Given the description of an element on the screen output the (x, y) to click on. 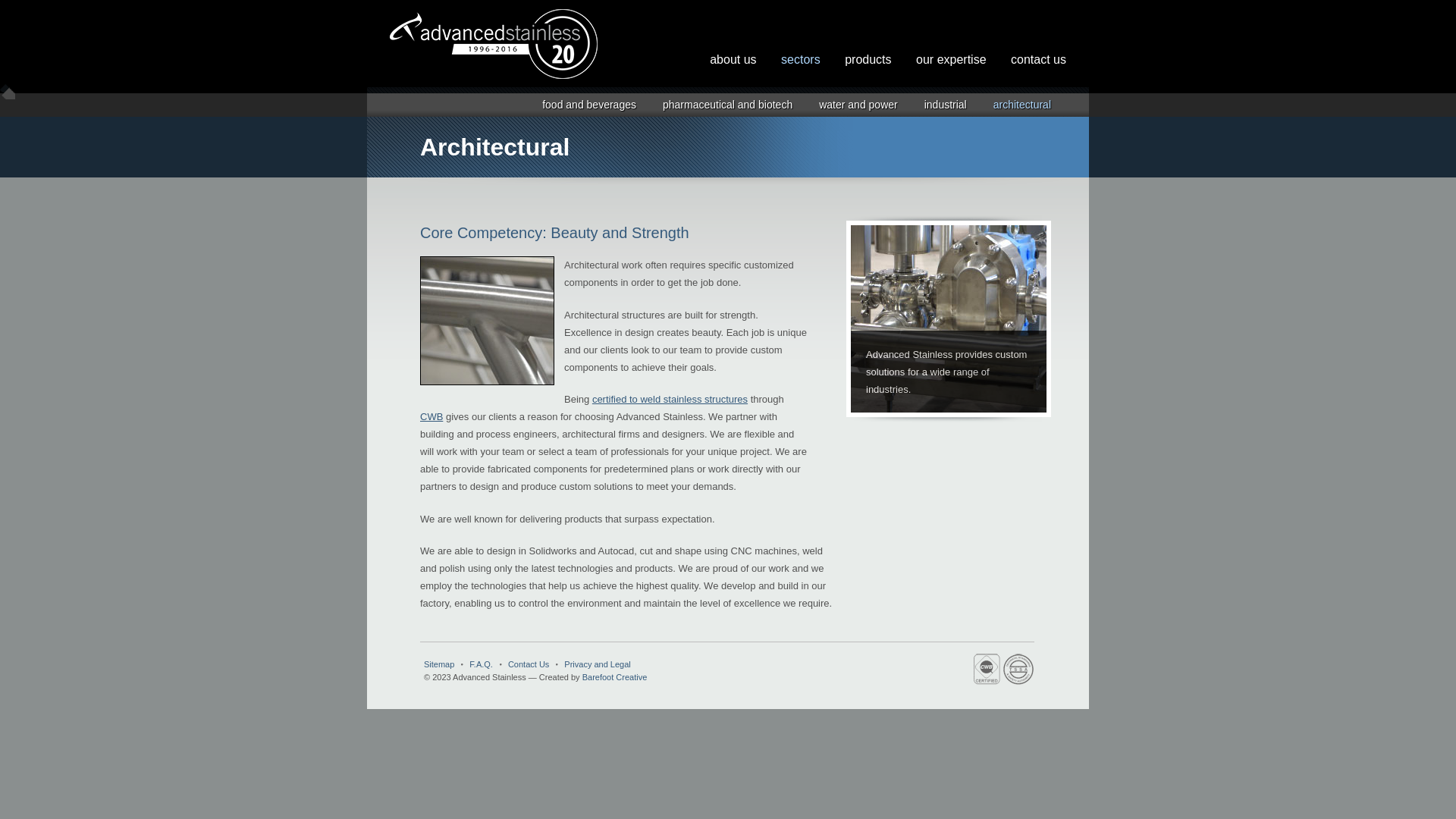
sectors Element type: text (800, 59)
F.A.Q. Element type: text (478, 663)
products Element type: text (867, 59)
water and power Element type: text (858, 104)
certified to weld stainless structures Element type: text (669, 398)
food and beverages Element type: text (589, 104)
architectural Element type: text (1022, 104)
CWB Element type: text (431, 416)
industrial Element type: text (945, 104)
Contact Us Element type: text (526, 663)
Privacy and Legal Element type: text (594, 663)
Sitemap Element type: text (441, 663)
Barefoot Creative Element type: text (614, 676)
pharmaceutical and biotech Element type: text (727, 104)
our expertise Element type: text (951, 59)
contact us Element type: text (1038, 59)
about us Element type: text (732, 59)
